Given the description of an element on the screen output the (x, y) to click on. 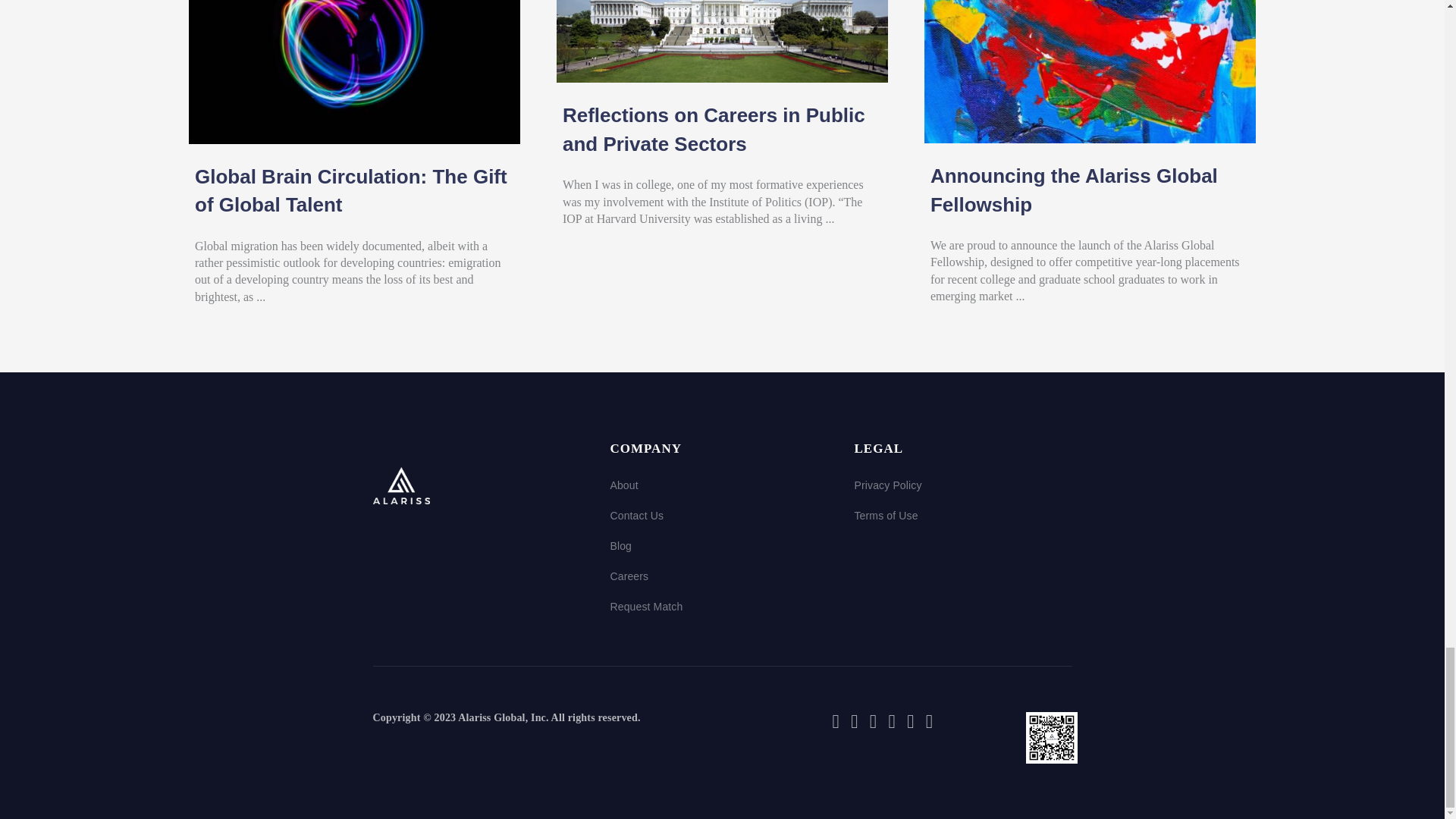
Alariss Public WeChat ID (1051, 737)
Reflections on Careers in Public and Private Sectors (713, 129)
Global Brain Circulation: The Gift of Global Talent (350, 190)
Announcing the Alariss Global Fellowship (1089, 25)
Global Brain Circulation: The Gift of Global Talent (354, 26)
Announcing the Alariss Global Fellowship (1073, 189)
